Given the description of an element on the screen output the (x, y) to click on. 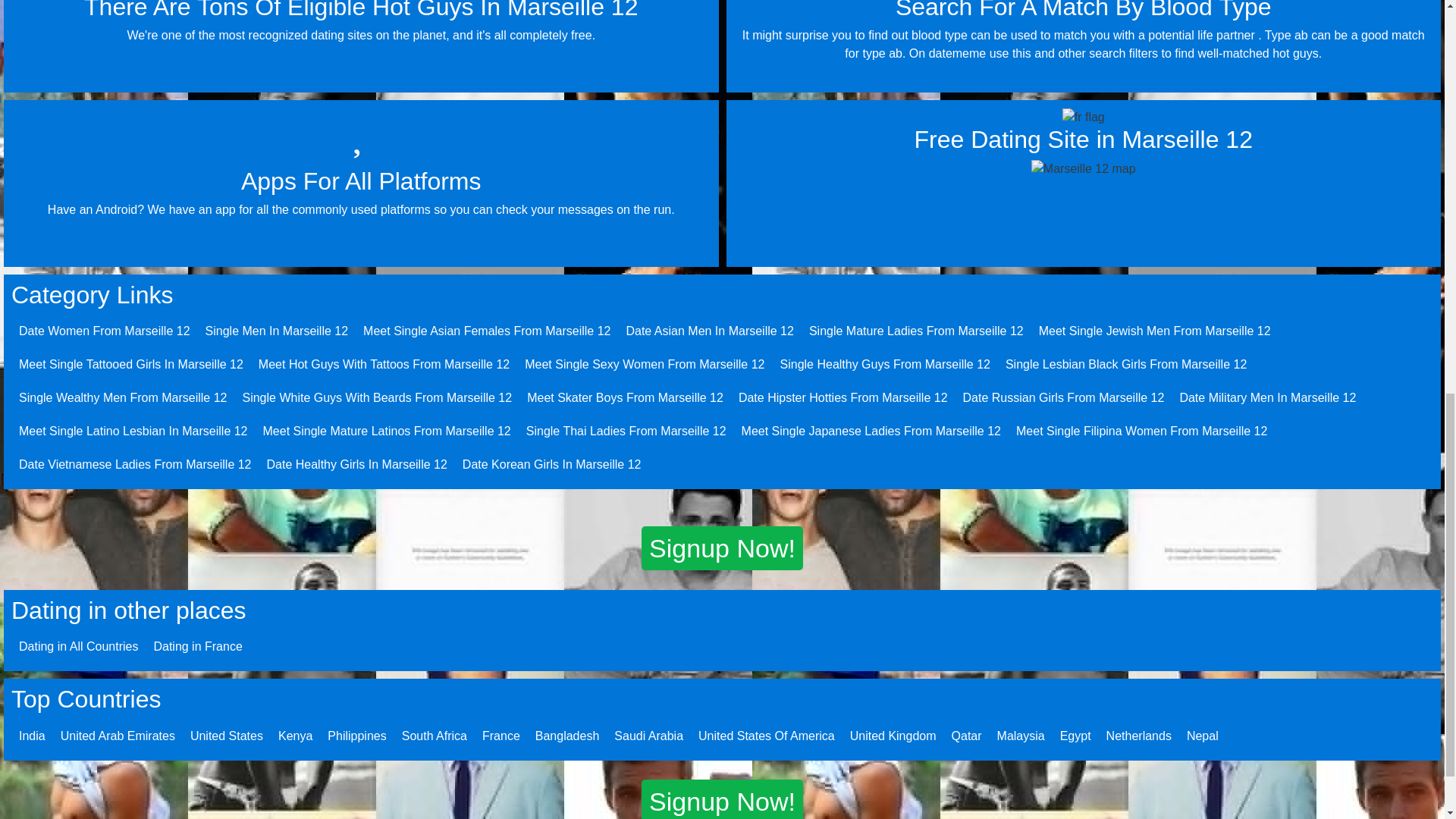
Date Women From Marseille 12 (104, 330)
Meet Single Asian Females From Marseille 12 (486, 330)
Date Asian Men In Marseille 12 (709, 330)
Single Men In Marseille 12 (277, 330)
